Given the description of an element on the screen output the (x, y) to click on. 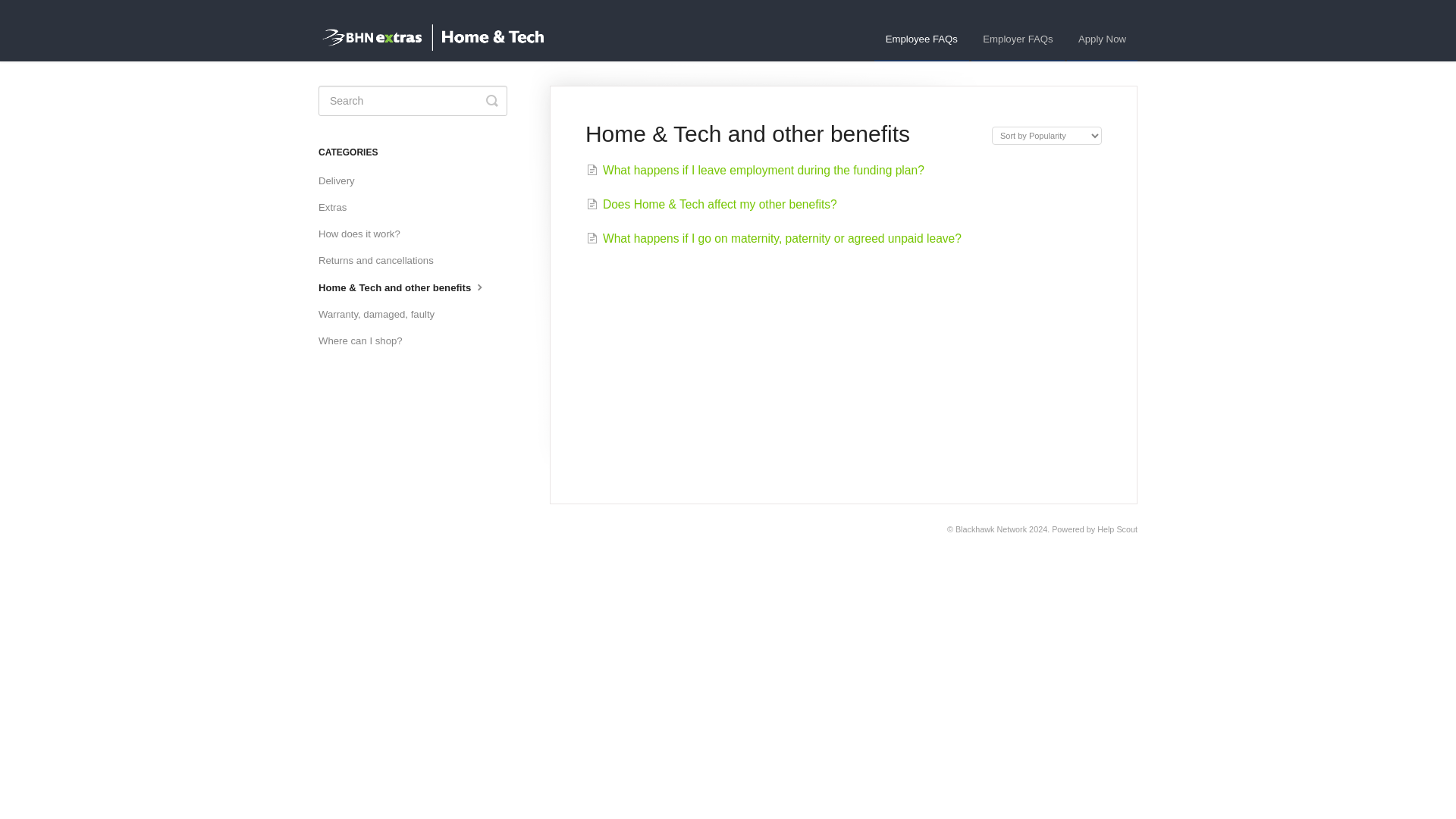
Delivery (342, 180)
Employer FAQs (1017, 38)
Where can I shop? (365, 340)
Employee FAQs (922, 38)
Help Scout (1117, 528)
sort-by (1046, 135)
Apply Now (1102, 38)
Returns and cancellations (381, 260)
How does it work? (365, 233)
Blackhawk Network (990, 528)
